Given the description of an element on the screen output the (x, y) to click on. 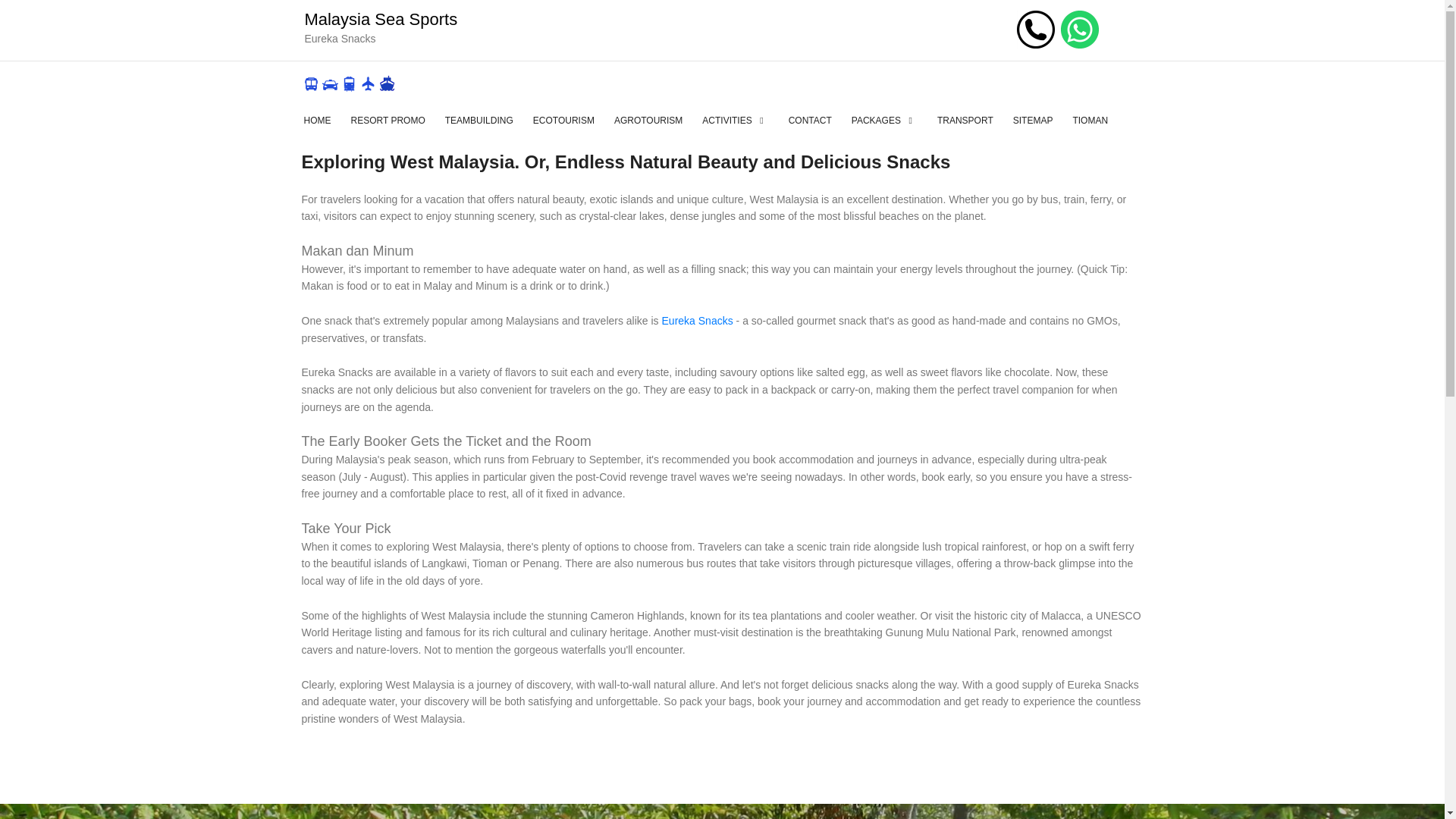
RESORT PROMO (386, 120)
Book your train here (348, 82)
Book your ferry here (386, 82)
Malaysia Sea Sports (380, 18)
TEAMBUILDING (479, 120)
Book your flight here (367, 82)
ECOTOURISM (563, 120)
CONTACT (810, 120)
Book your bus here (310, 82)
AGROTOURISM (648, 120)
ACTIVITIES (734, 120)
Book your taxi here (329, 82)
HOME (316, 120)
PACKAGES (884, 120)
